Given the description of an element on the screen output the (x, y) to click on. 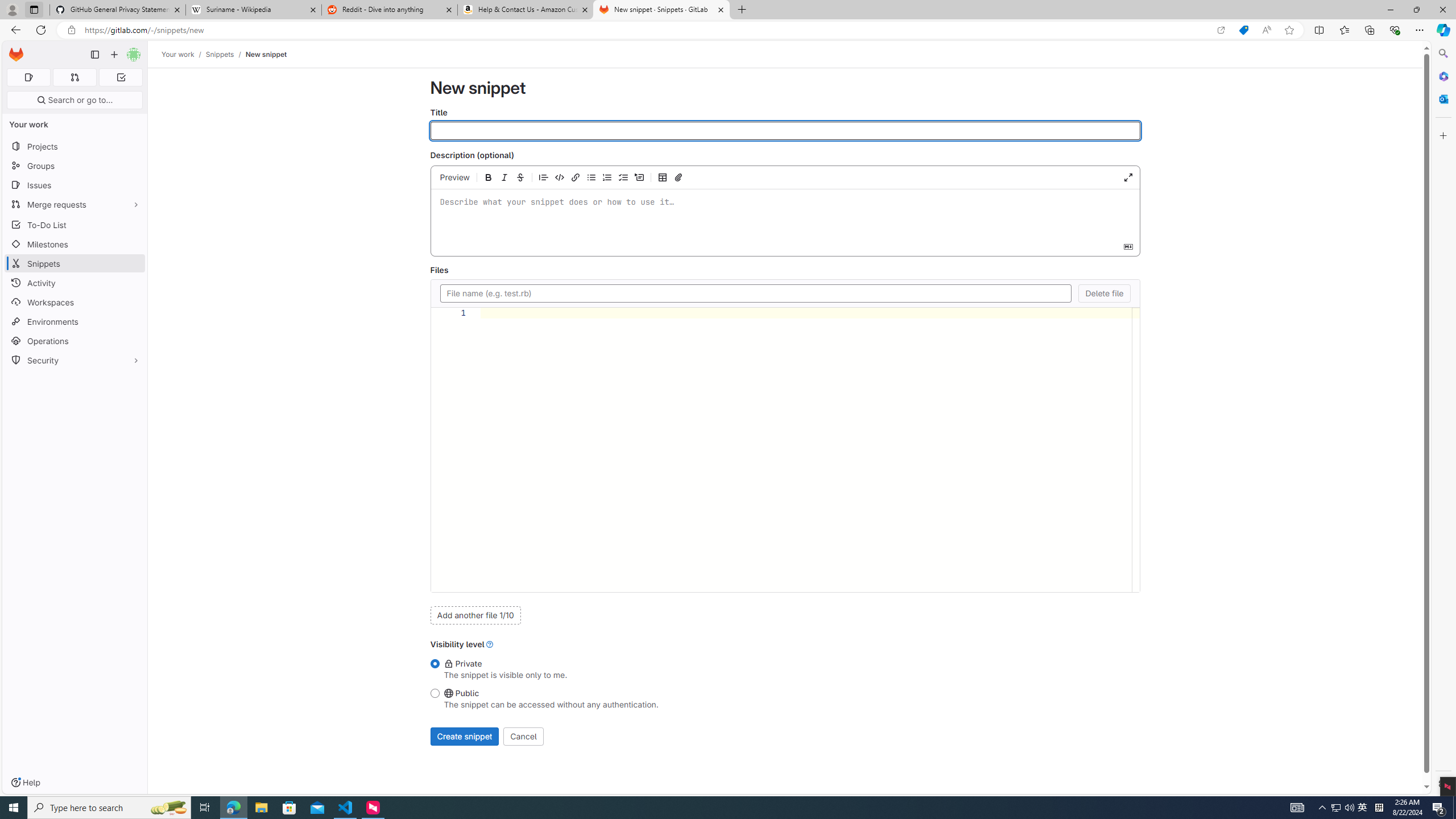
Add a table (662, 177)
Milestones (74, 244)
Operations (74, 340)
Primary navigation sidebar (94, 54)
Add another file 1/10 (475, 615)
Snippets (74, 262)
New snippet (265, 53)
Snippets/ (225, 53)
Title (784, 130)
Security (74, 359)
